Given the description of an element on the screen output the (x, y) to click on. 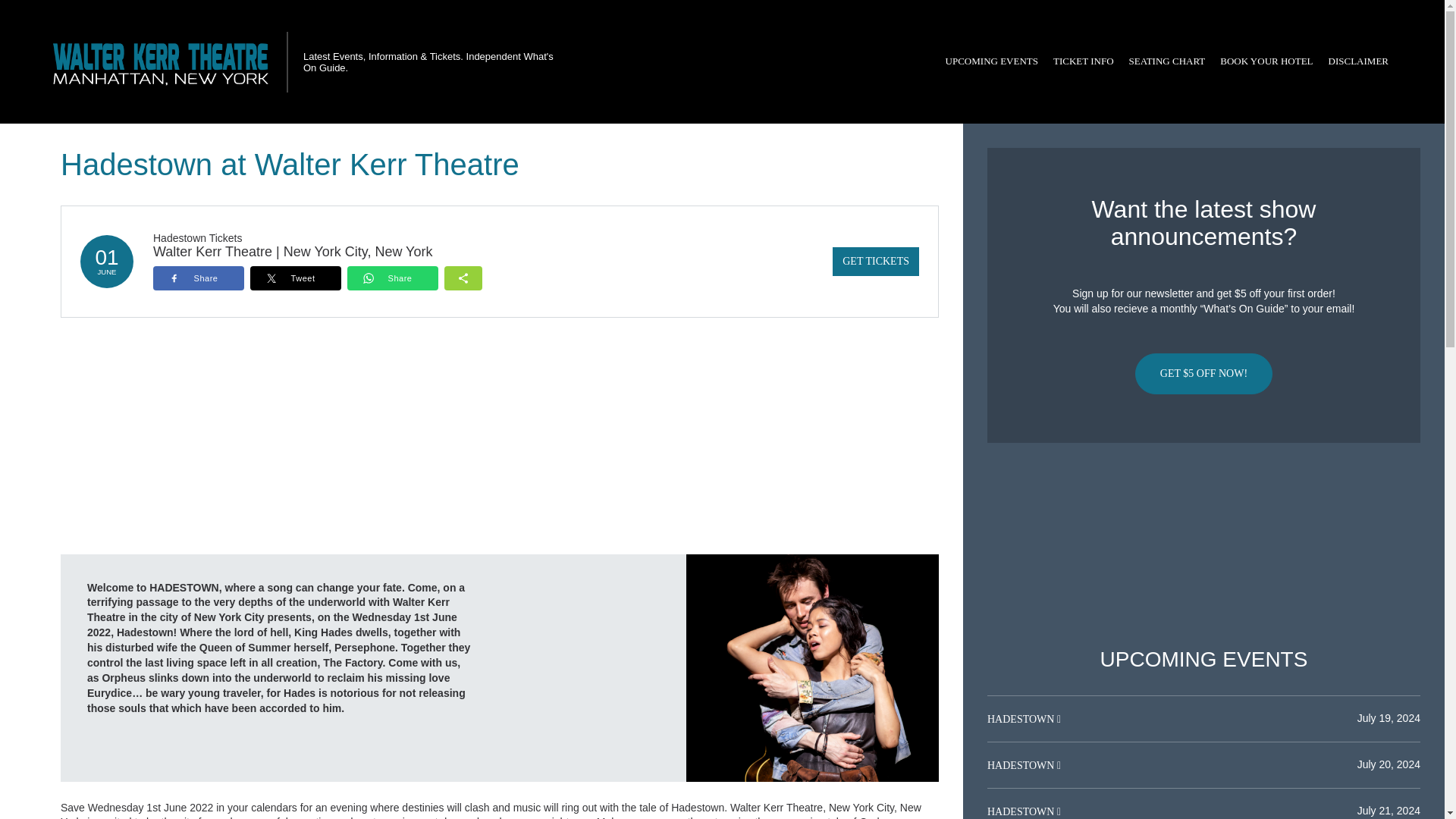
SEATING CHART (1166, 61)
GET TICKETS (875, 261)
DISCLAIMER (1358, 61)
Hadestown at Walter Kerr Theatre (812, 667)
Advertisement (1204, 545)
BOOK YOUR HOTEL (1266, 61)
UPCOMING EVENTS (991, 61)
Hadestown Tickets (197, 237)
TICKET INFO (1083, 61)
